Given the description of an element on the screen output the (x, y) to click on. 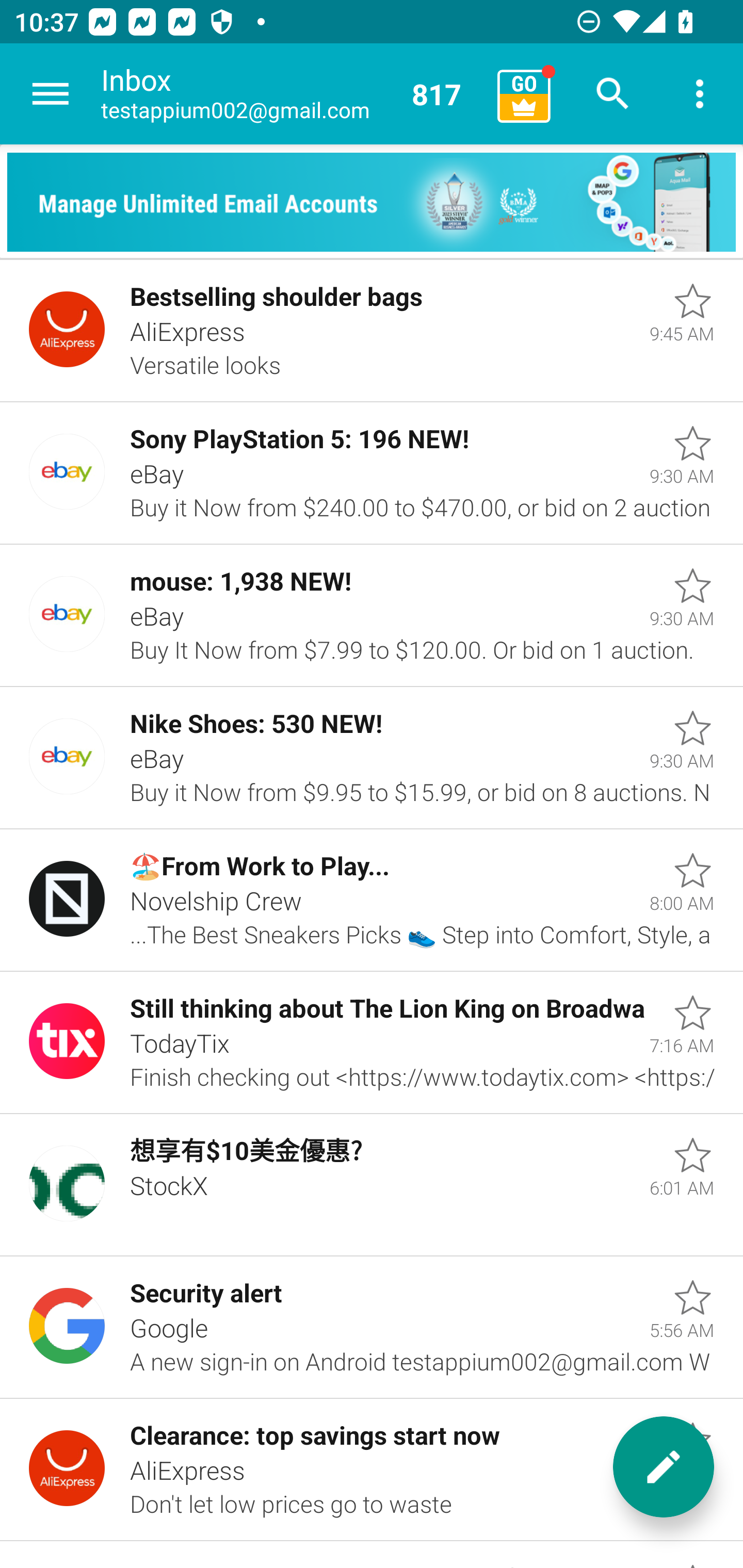
Navigate up (50, 93)
Inbox testappium002@gmail.com 817 (291, 93)
Search (612, 93)
More options (699, 93)
Unread, 想享有$10美金優惠?, StockX, 6:01 AM (371, 1184)
New message (663, 1466)
